Given the description of an element on the screen output the (x, y) to click on. 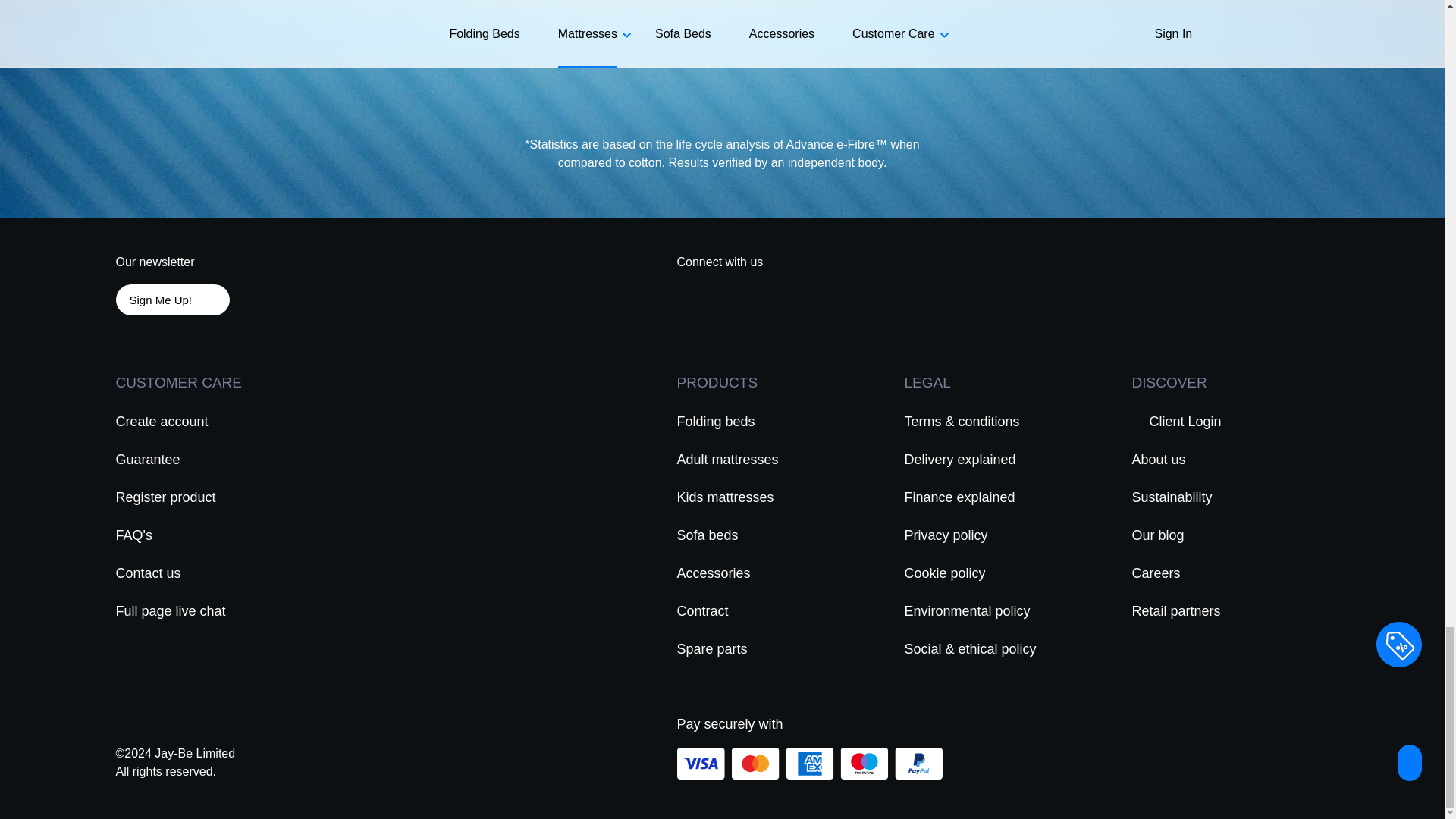
Folding beds (716, 420)
Register product (165, 497)
Guarantee (148, 458)
Full page live chat (170, 610)
Create account (161, 420)
Sign Me Up! (171, 299)
Contact us (148, 572)
FAQ's (133, 534)
